Given the description of an element on the screen output the (x, y) to click on. 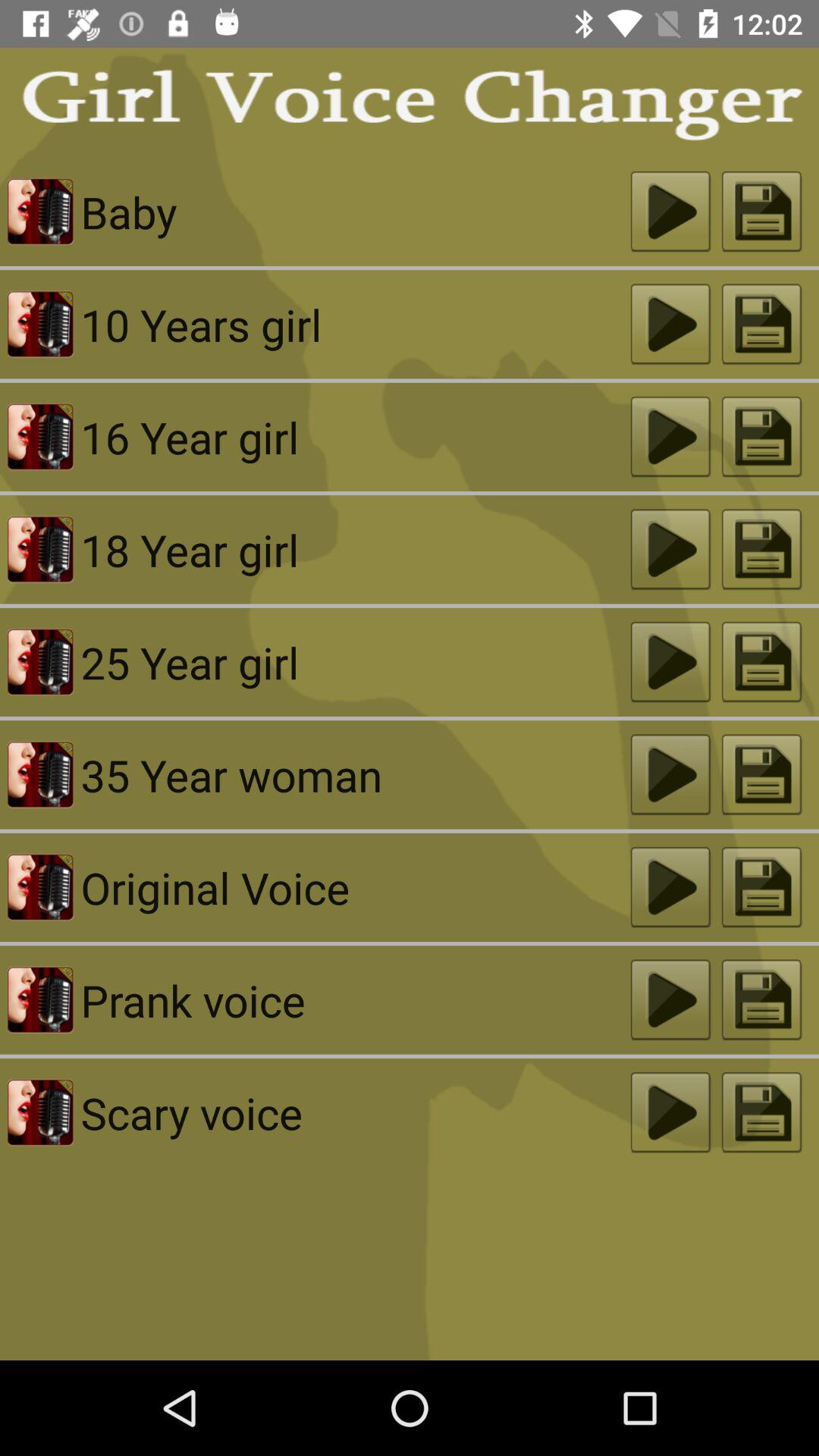
swipe until the 35 year woman item (355, 774)
